Given the description of an element on the screen output the (x, y) to click on. 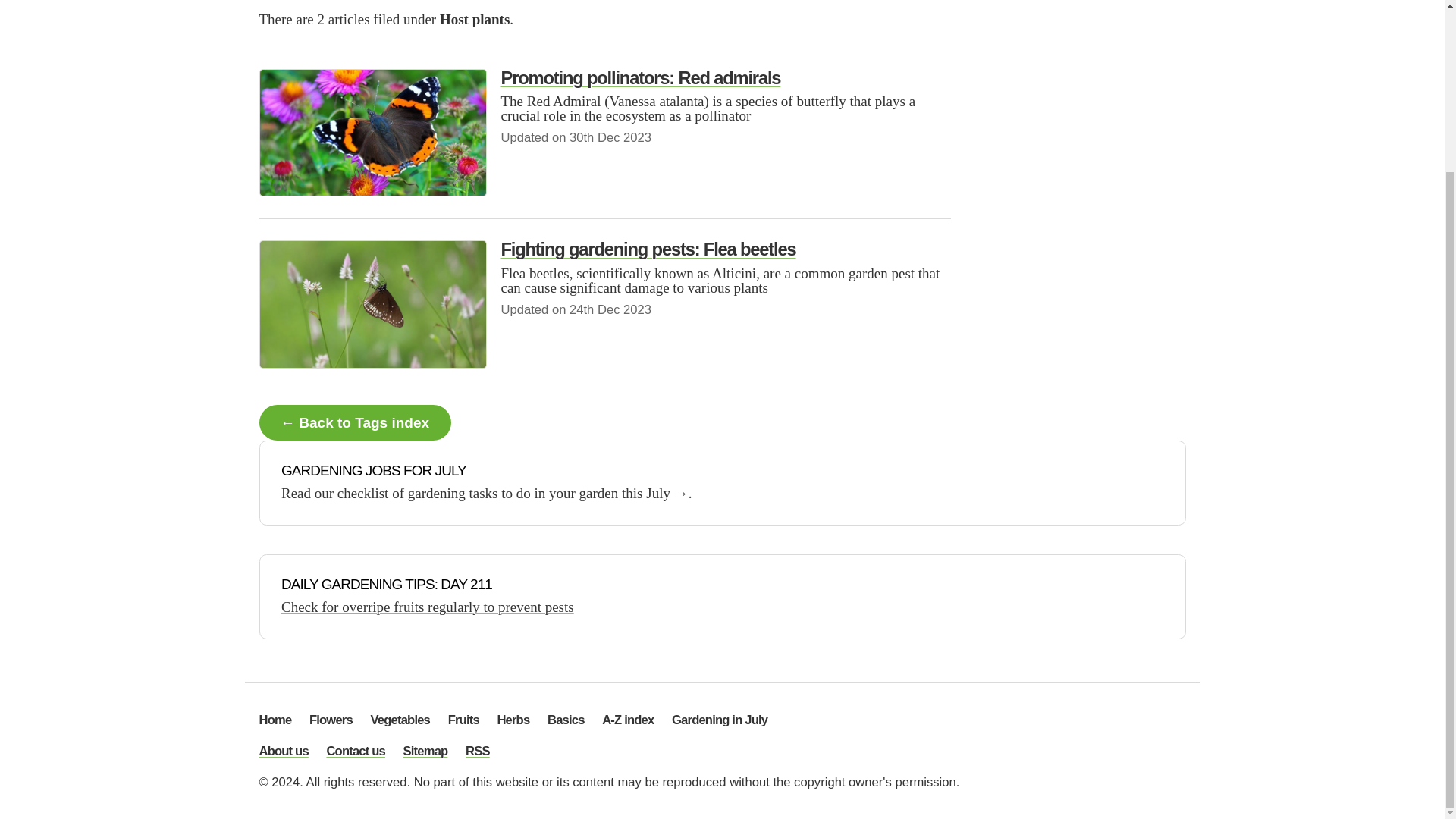
Gardening in July (719, 720)
Promoting pollinators: Red admirals (640, 77)
Vegetables (400, 720)
Sitemap (425, 751)
RSS (477, 751)
Flowers (330, 720)
Fighting gardening pests: Flea beetles (647, 249)
Check for overripe fruits regularly to prevent pests (427, 606)
Fruits (463, 720)
Home (275, 720)
A-Z index (627, 720)
About us (283, 751)
Herbs (512, 720)
Basics (566, 720)
Contact us (355, 751)
